Given the description of an element on the screen output the (x, y) to click on. 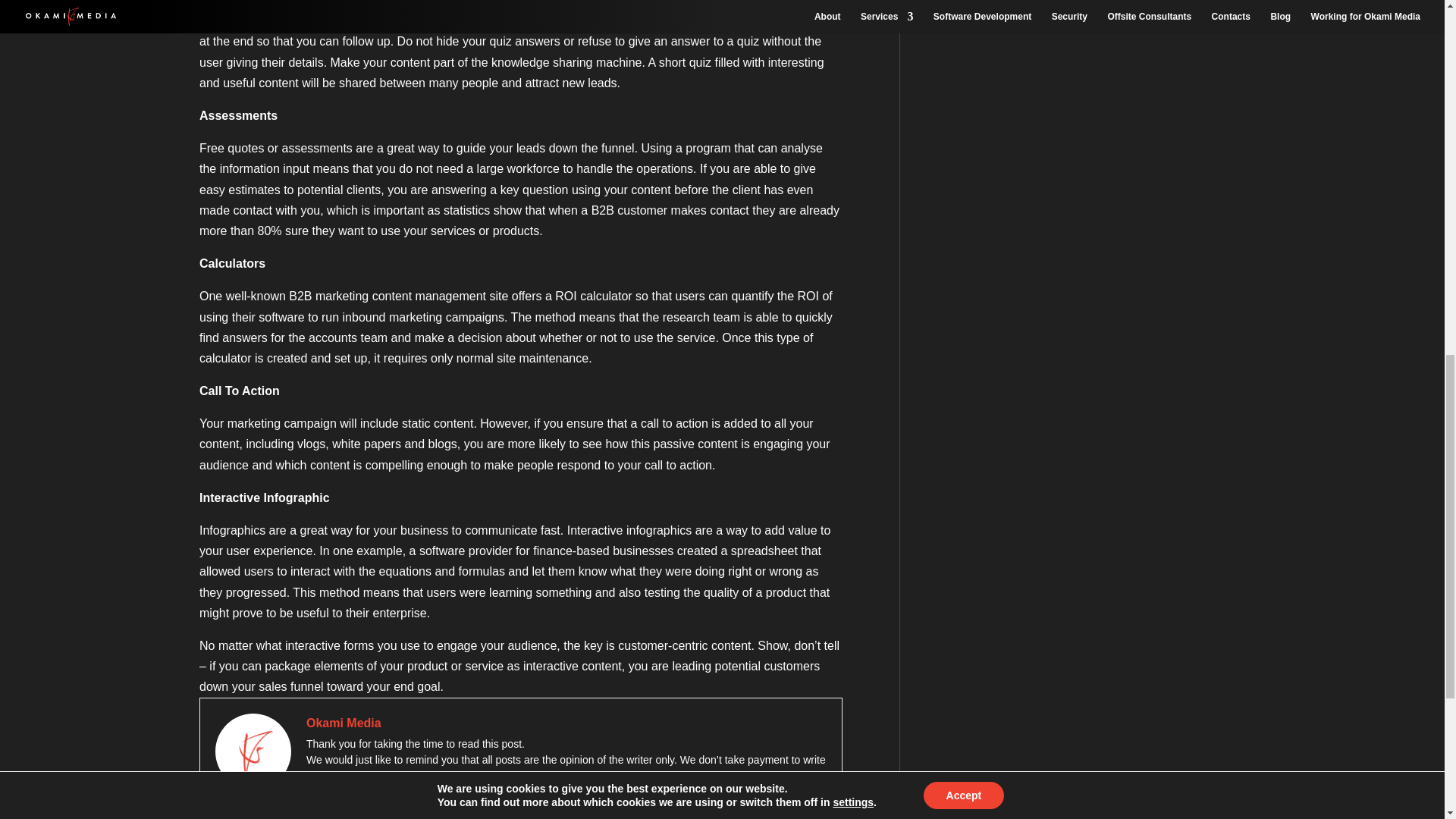
Okami Media (343, 722)
